Given the description of an element on the screen output the (x, y) to click on. 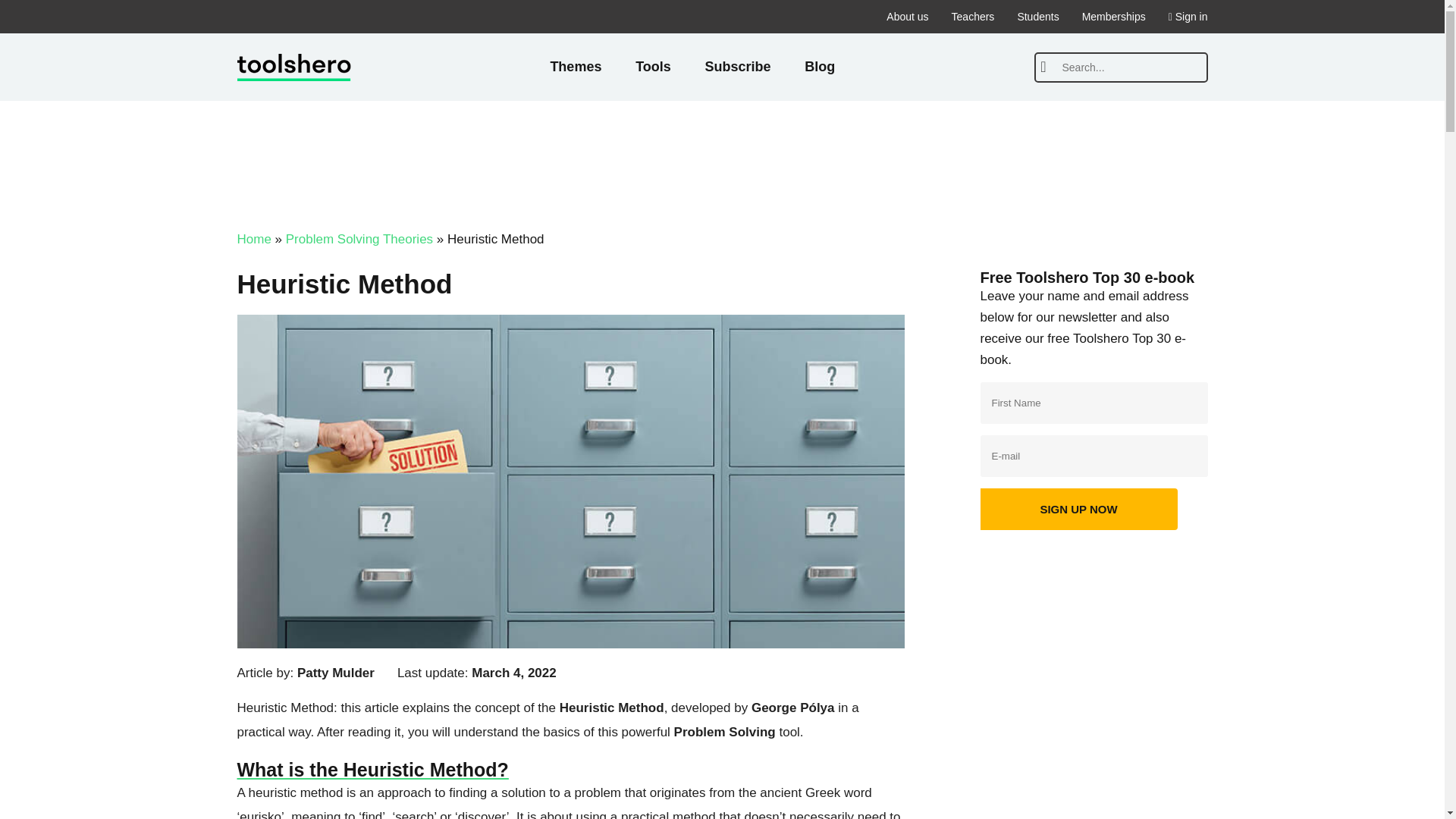
Blog (819, 66)
Memberships (1113, 16)
Teachers (973, 16)
Sign in (1188, 16)
Students (1037, 16)
Sign Up Now (1077, 508)
Themes (575, 66)
Tools (652, 66)
About us (907, 16)
Subscribe (737, 66)
Search (1042, 66)
